Given the description of an element on the screen output the (x, y) to click on. 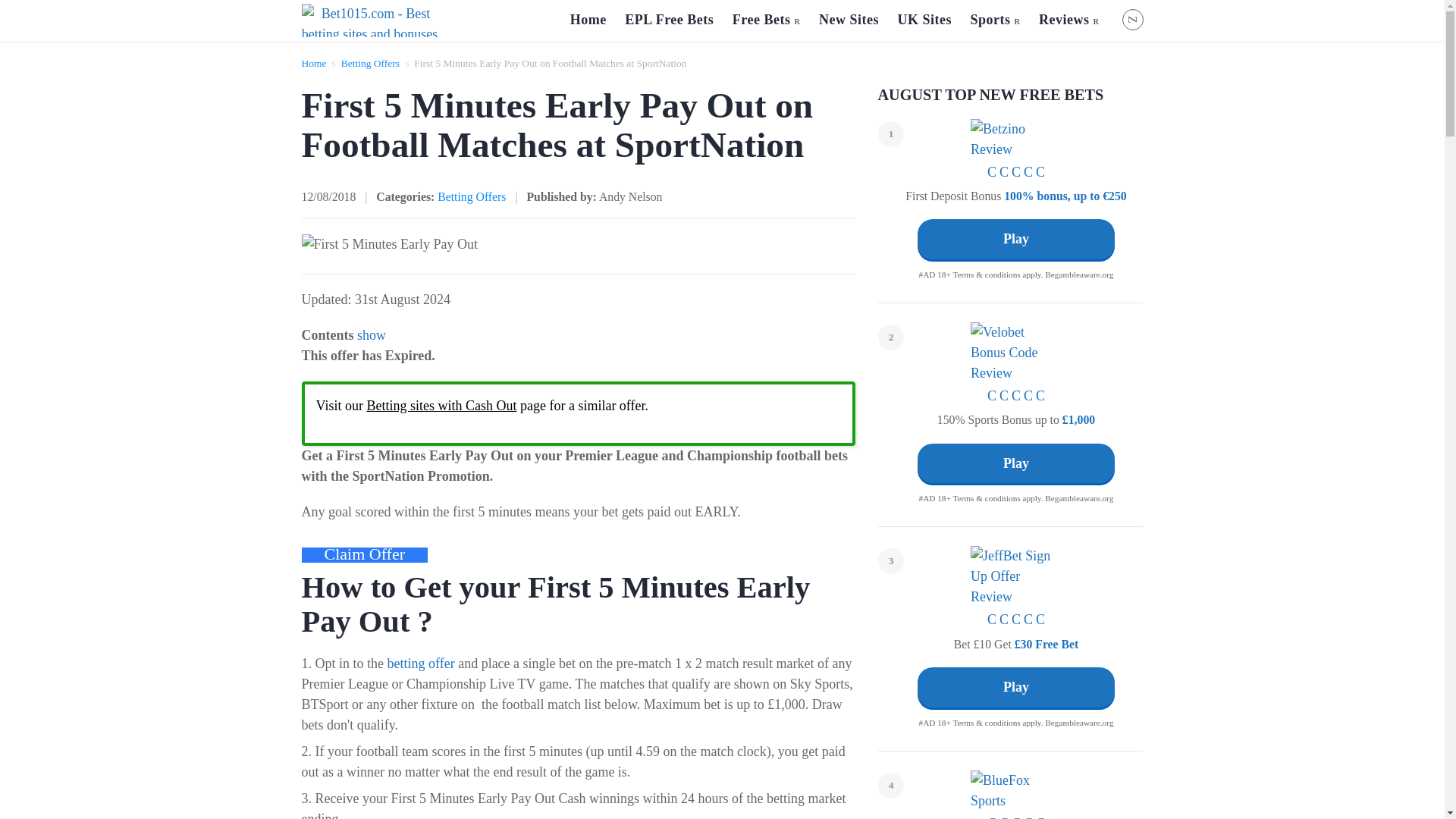
Home (588, 19)
JeffBet 10 (1016, 576)
Velobet Bonus Code Review 9 (1016, 353)
Betting Offers (369, 62)
Free Bets (766, 20)
New Sites (848, 19)
Sports (994, 20)
EPL Free Bets (668, 19)
UK Sites (924, 19)
